Given the description of an element on the screen output the (x, y) to click on. 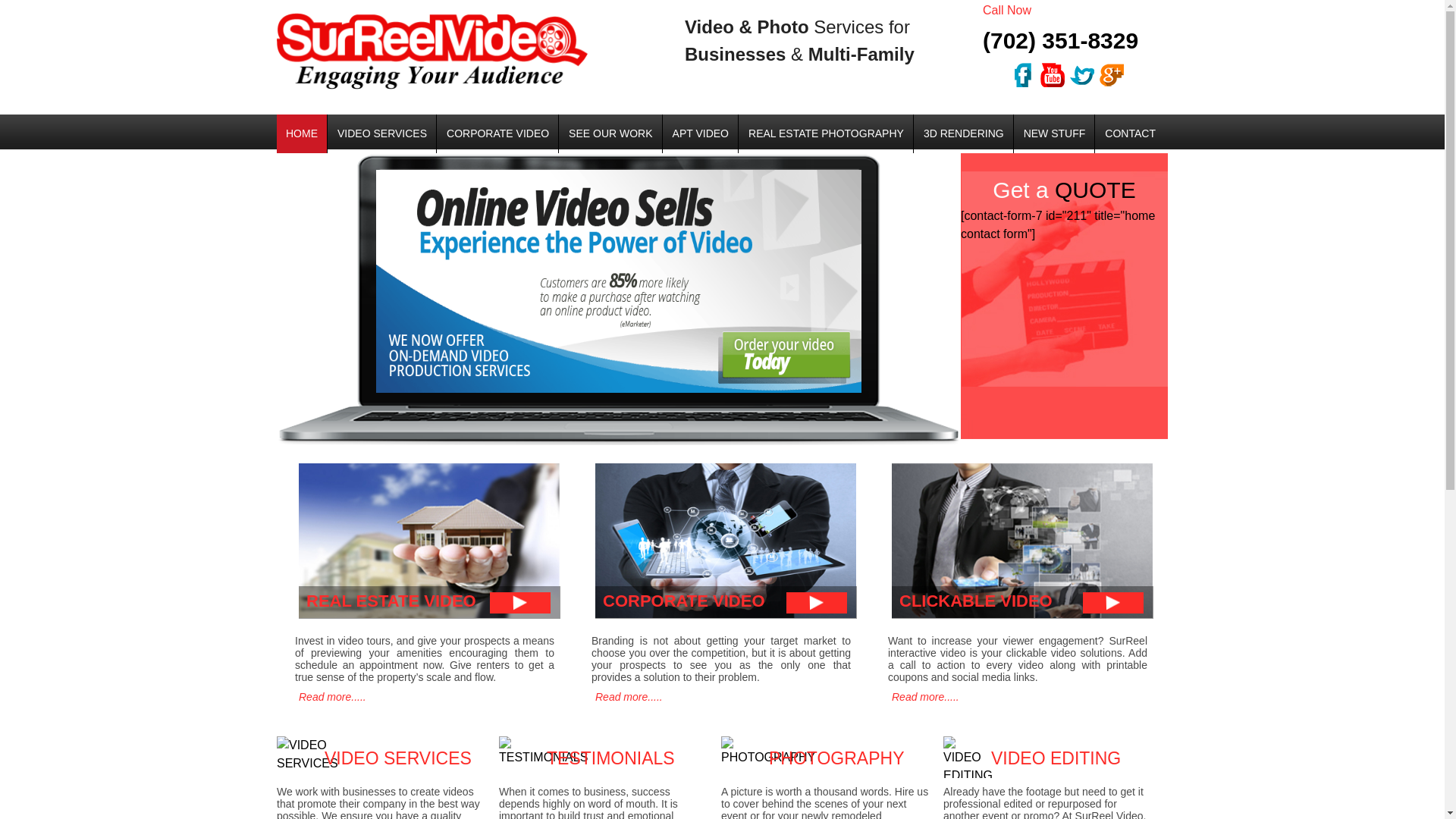
Read more..... (626, 697)
HOME (301, 133)
Interactive Video Hosting (1020, 548)
Corporate Video Productions (723, 548)
3D RENDERING (963, 133)
VIDEO SERVICES (382, 133)
NEW STUFF (1054, 133)
CORPORATE VIDEO (723, 548)
REAL ESTATE PHOTOGRAPHY (825, 133)
CLICKABLE VIDEO (1020, 548)
